Given the description of an element on the screen output the (x, y) to click on. 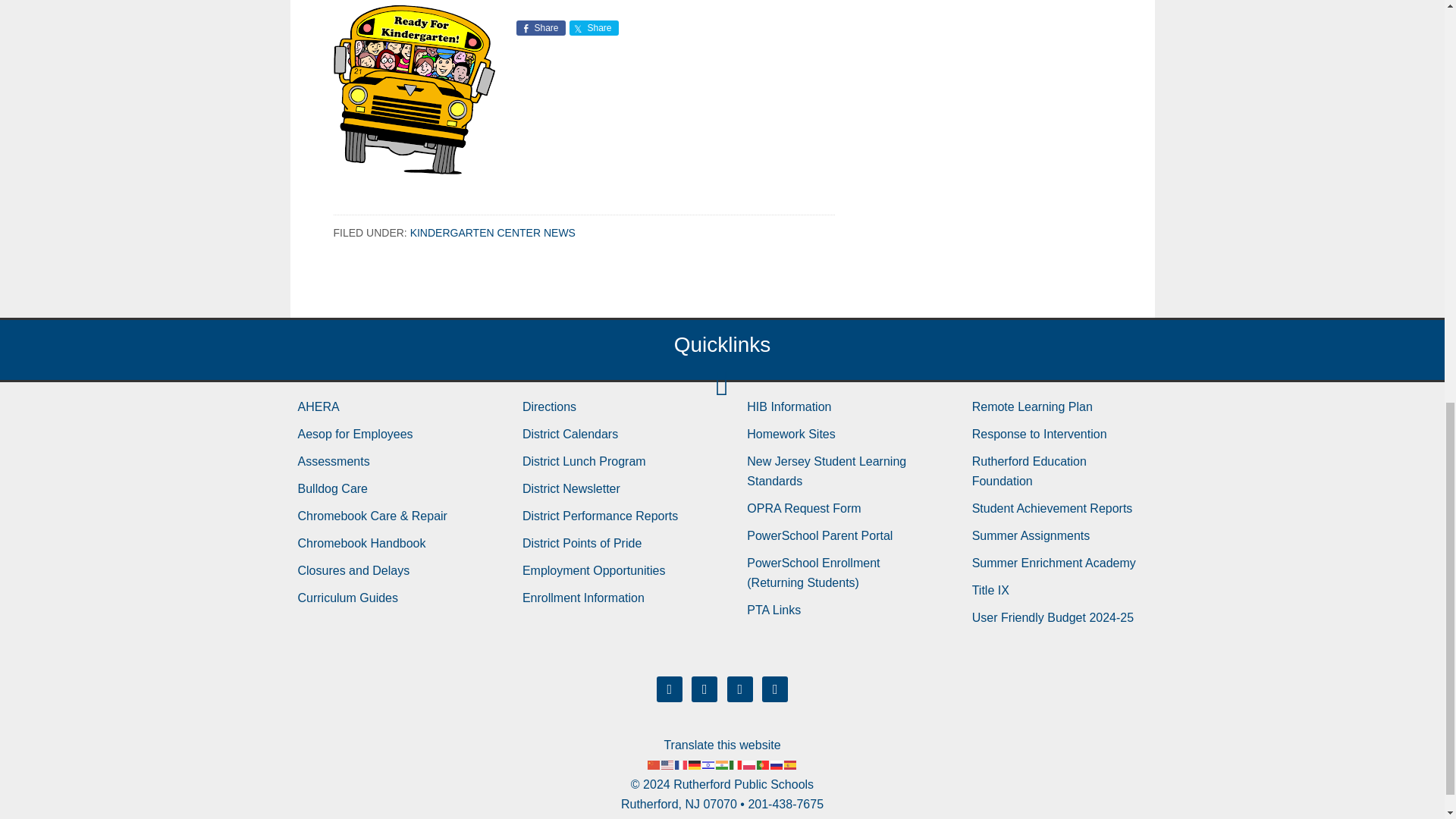
Facebook (669, 687)
X (704, 687)
Instagram (739, 687)
English (668, 764)
